Given the description of an element on the screen output the (x, y) to click on. 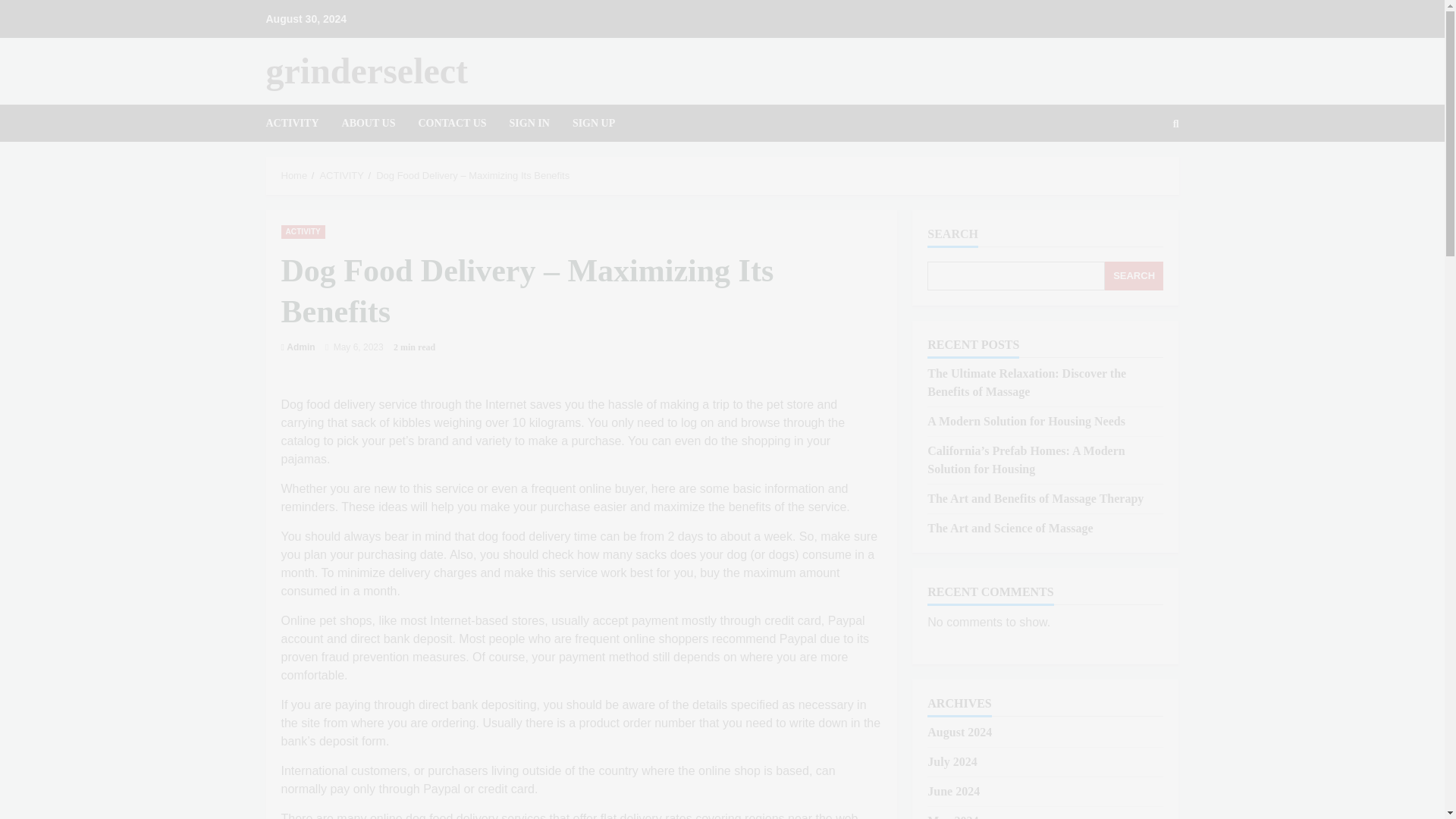
ACTIVITY (302, 231)
July 2024 (951, 761)
ACTIVITY (341, 174)
A Modern Solution for Housing Needs (1026, 420)
Home (294, 174)
The Ultimate Relaxation: Discover the Benefits of Massage (1026, 382)
The Art and Science of Massage (1010, 527)
CONTACT US (451, 122)
Admin (300, 346)
SIGN UP (587, 122)
